Given the description of an element on the screen output the (x, y) to click on. 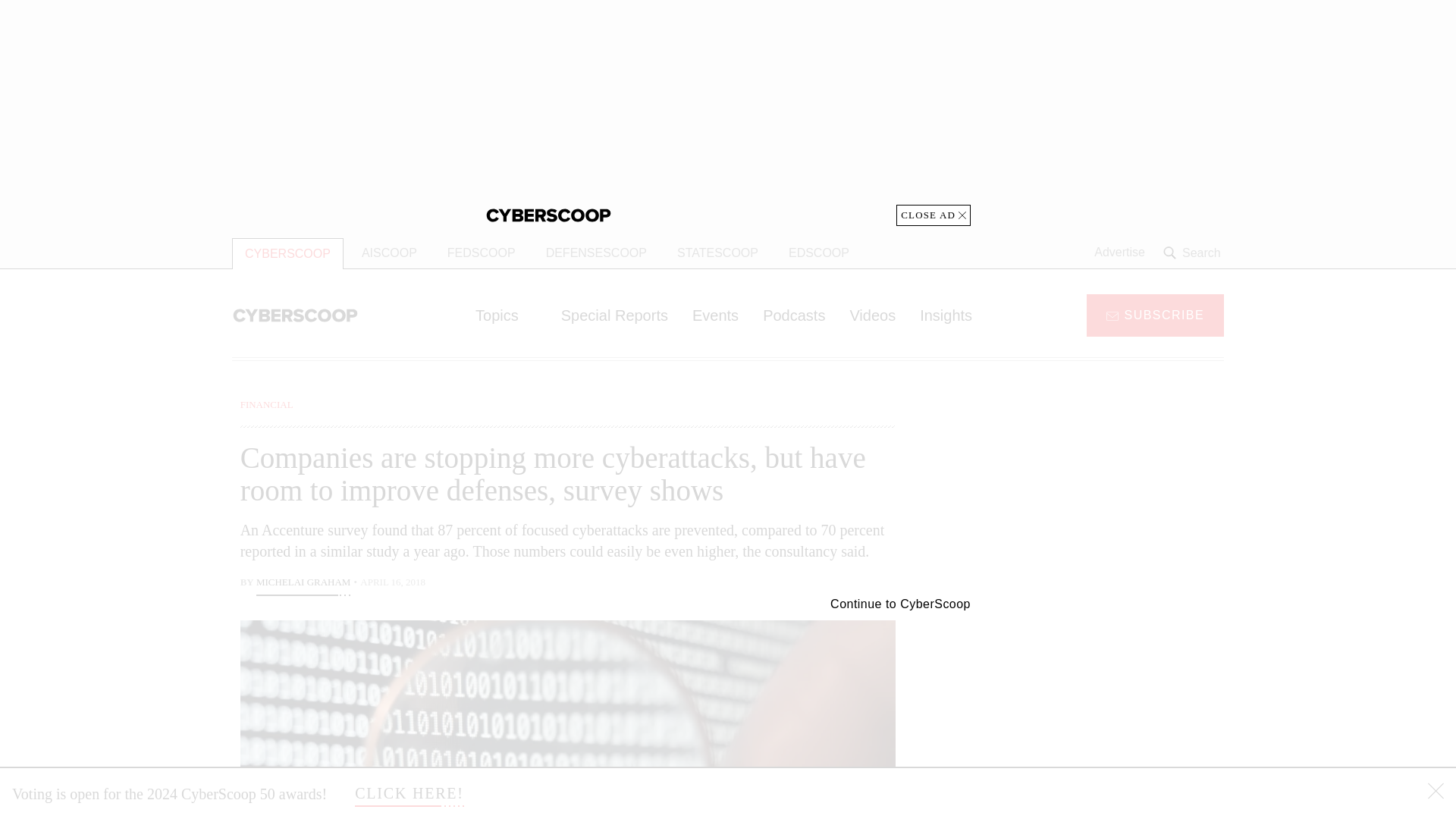
Search (1193, 252)
Insights (945, 315)
Events (715, 315)
Videos (872, 315)
3rd party ad content (727, 112)
CYBERSCOOP (287, 253)
DEFENSESCOOP (596, 253)
AISCOOP (389, 253)
